Given the description of an element on the screen output the (x, y) to click on. 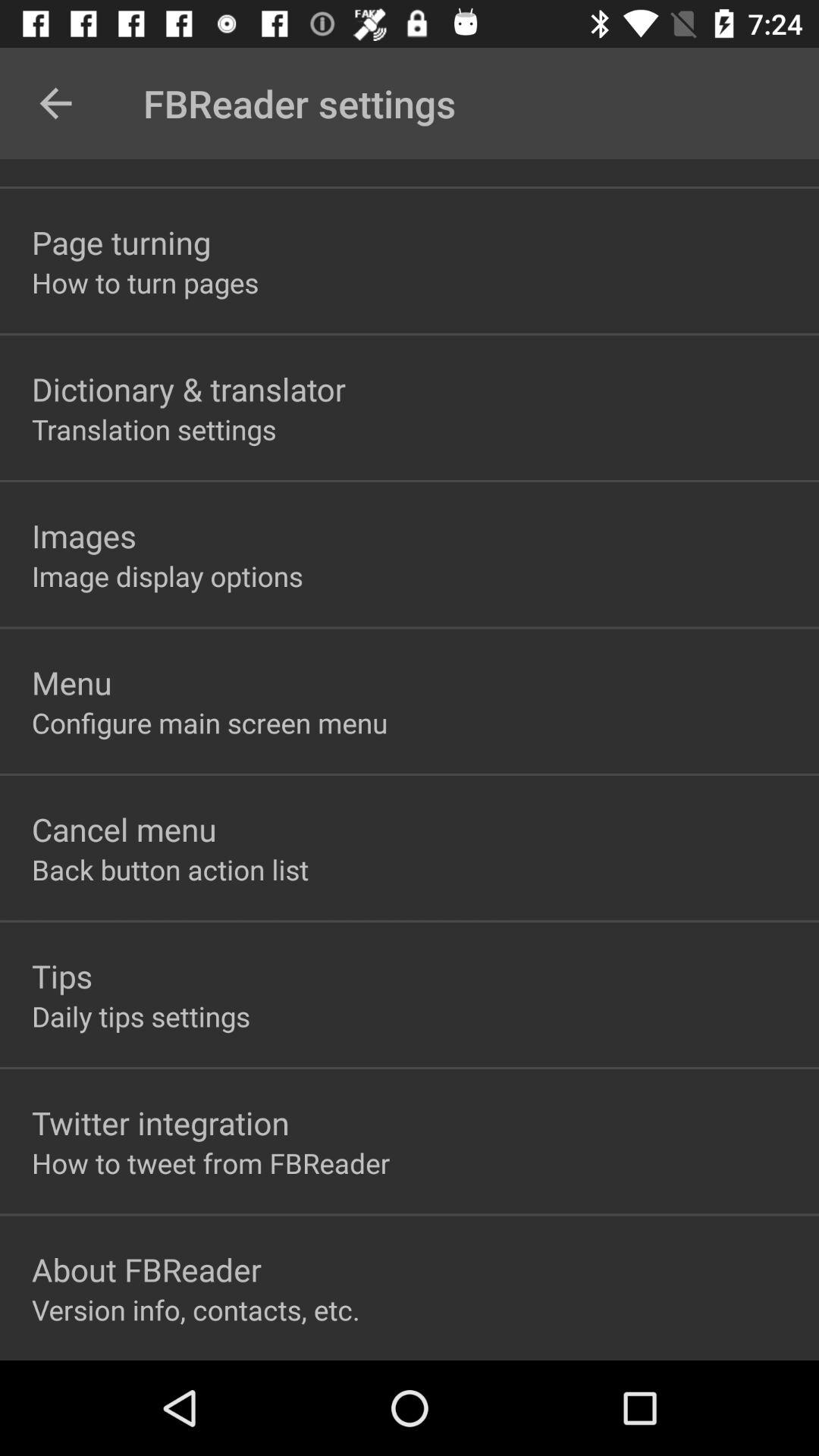
jump until the dictionary & translator item (188, 388)
